Given the description of an element on the screen output the (x, y) to click on. 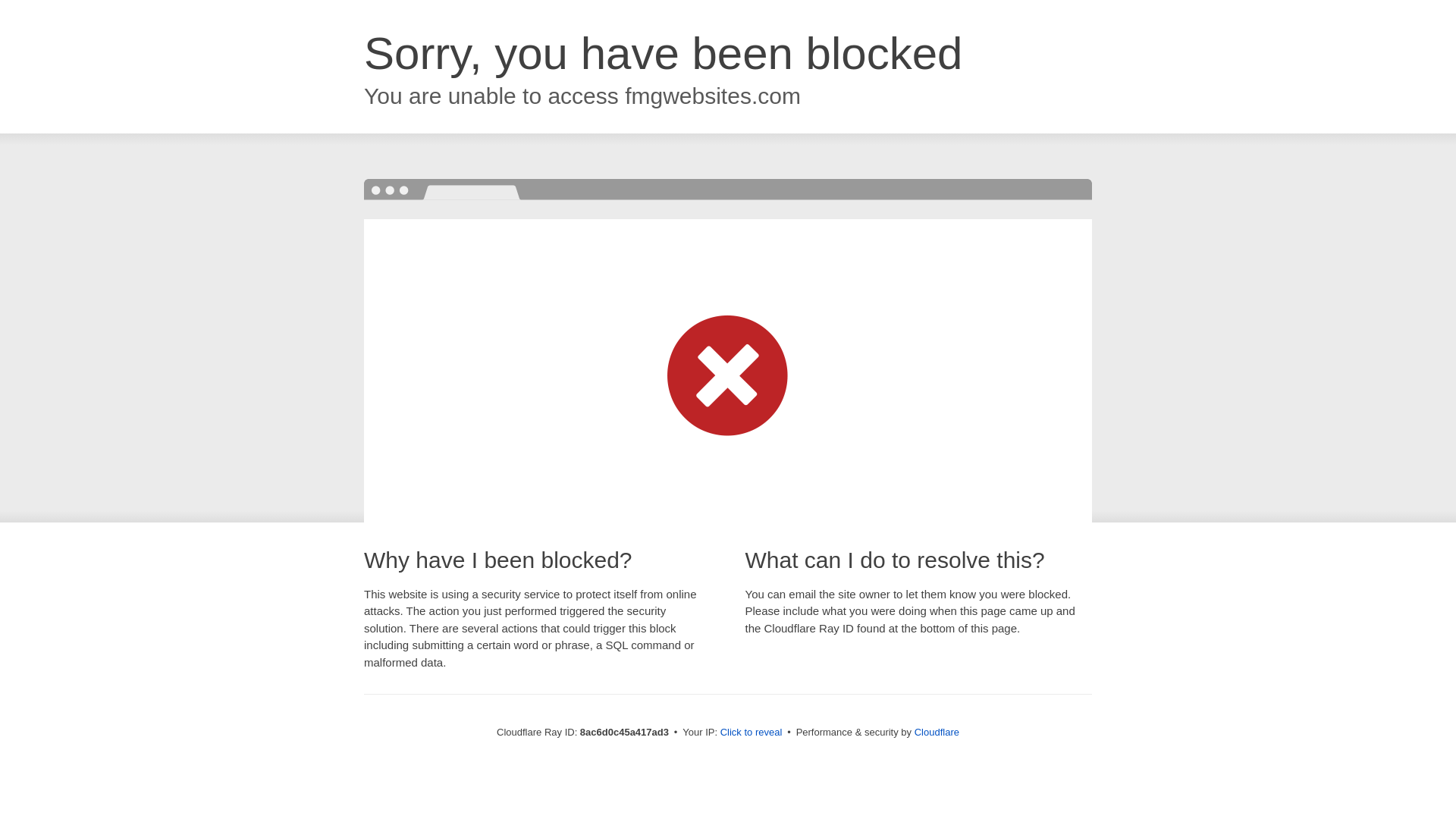
Cloudflare (936, 731)
Click to reveal (751, 732)
